Given the description of an element on the screen output the (x, y) to click on. 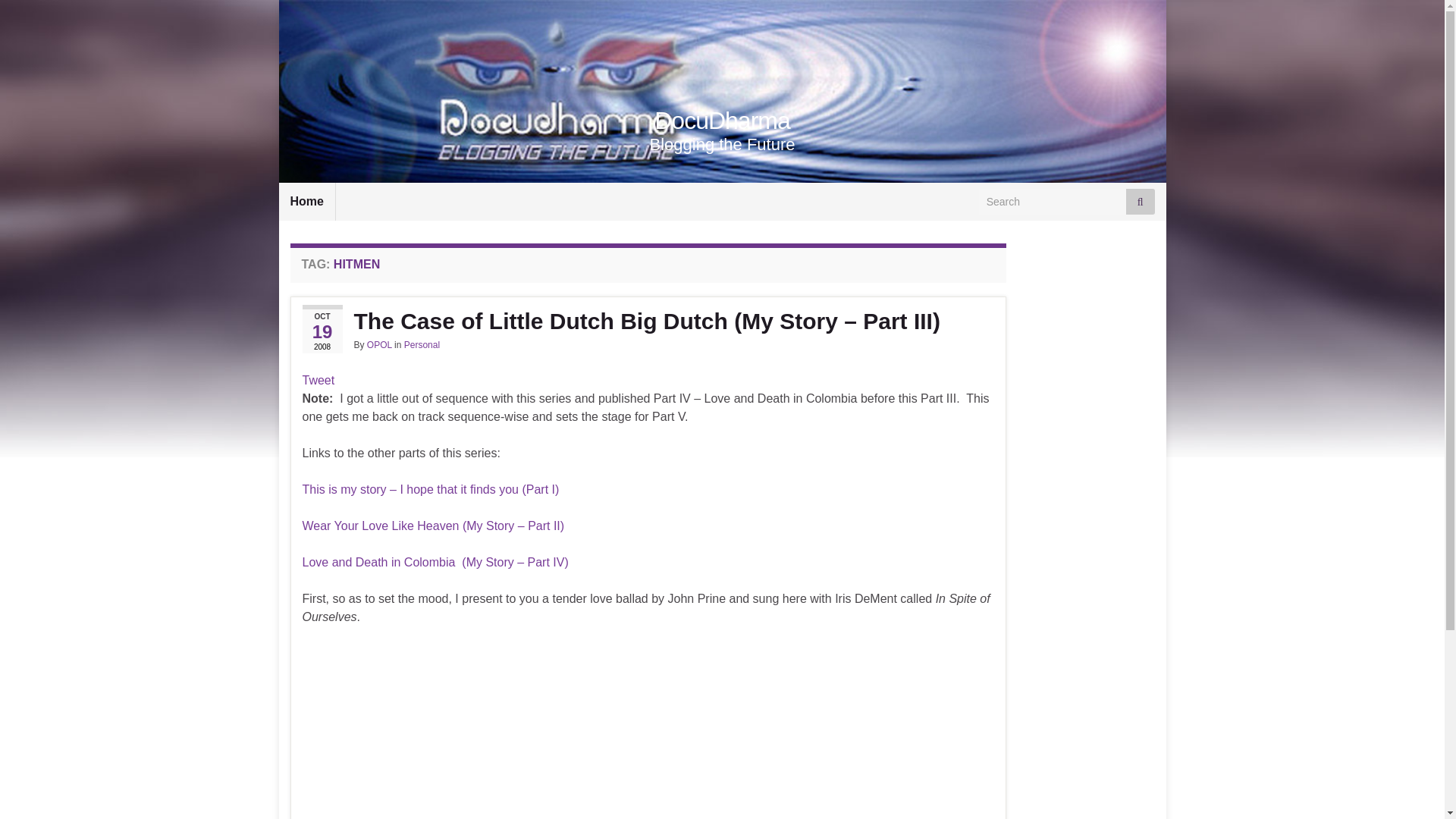
Home (306, 201)
DocuDharma (721, 120)
OPOL (378, 344)
Tweet (317, 379)
Go back to the front page (721, 120)
Personal (421, 344)
